Given the description of an element on the screen output the (x, y) to click on. 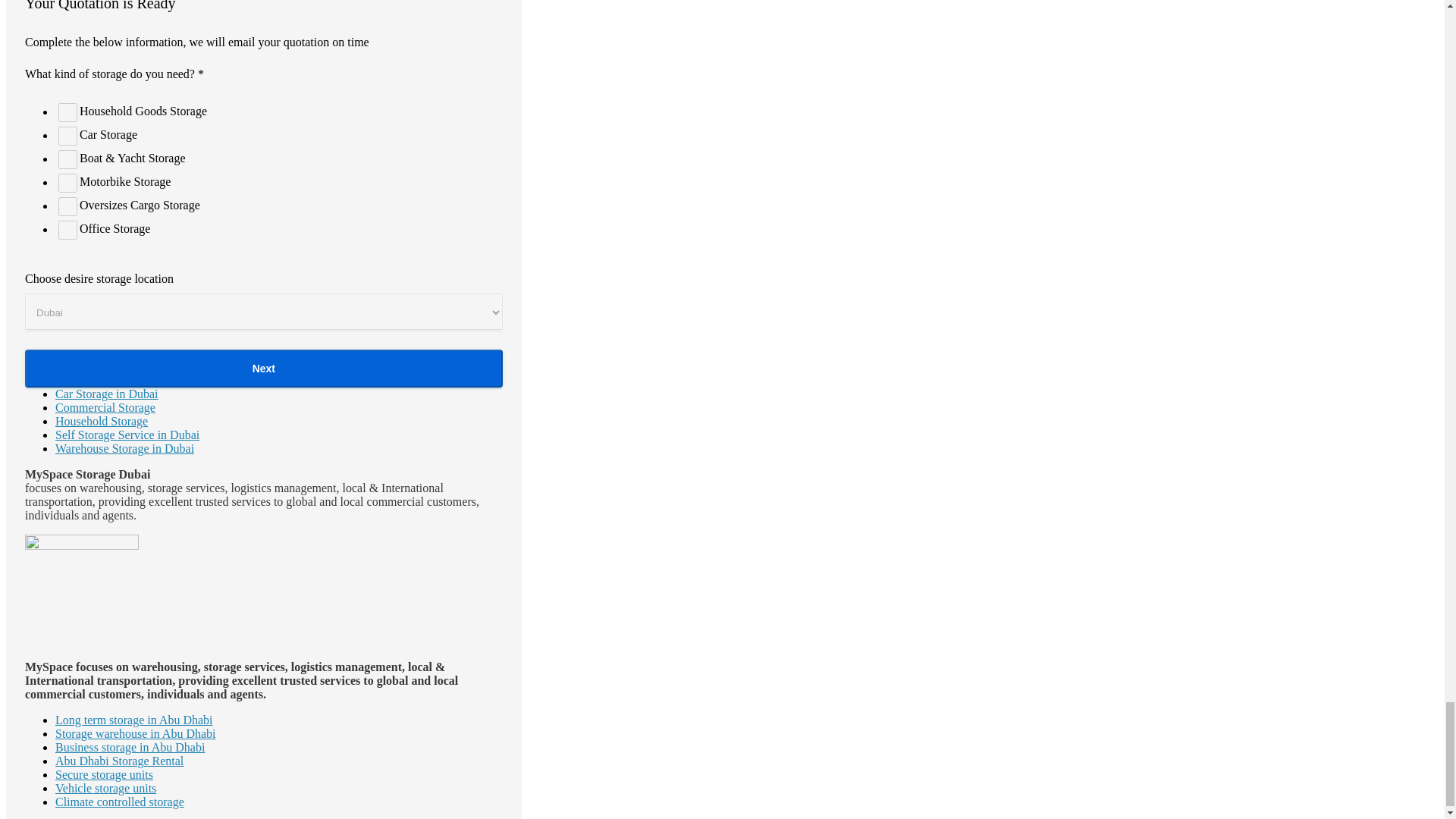
Household Goods Storage (67, 112)
Car Storage (67, 135)
Office Storage (67, 229)
Motorbike Storage (67, 182)
Oversizes Cargo Storage (67, 206)
